Given the description of an element on the screen output the (x, y) to click on. 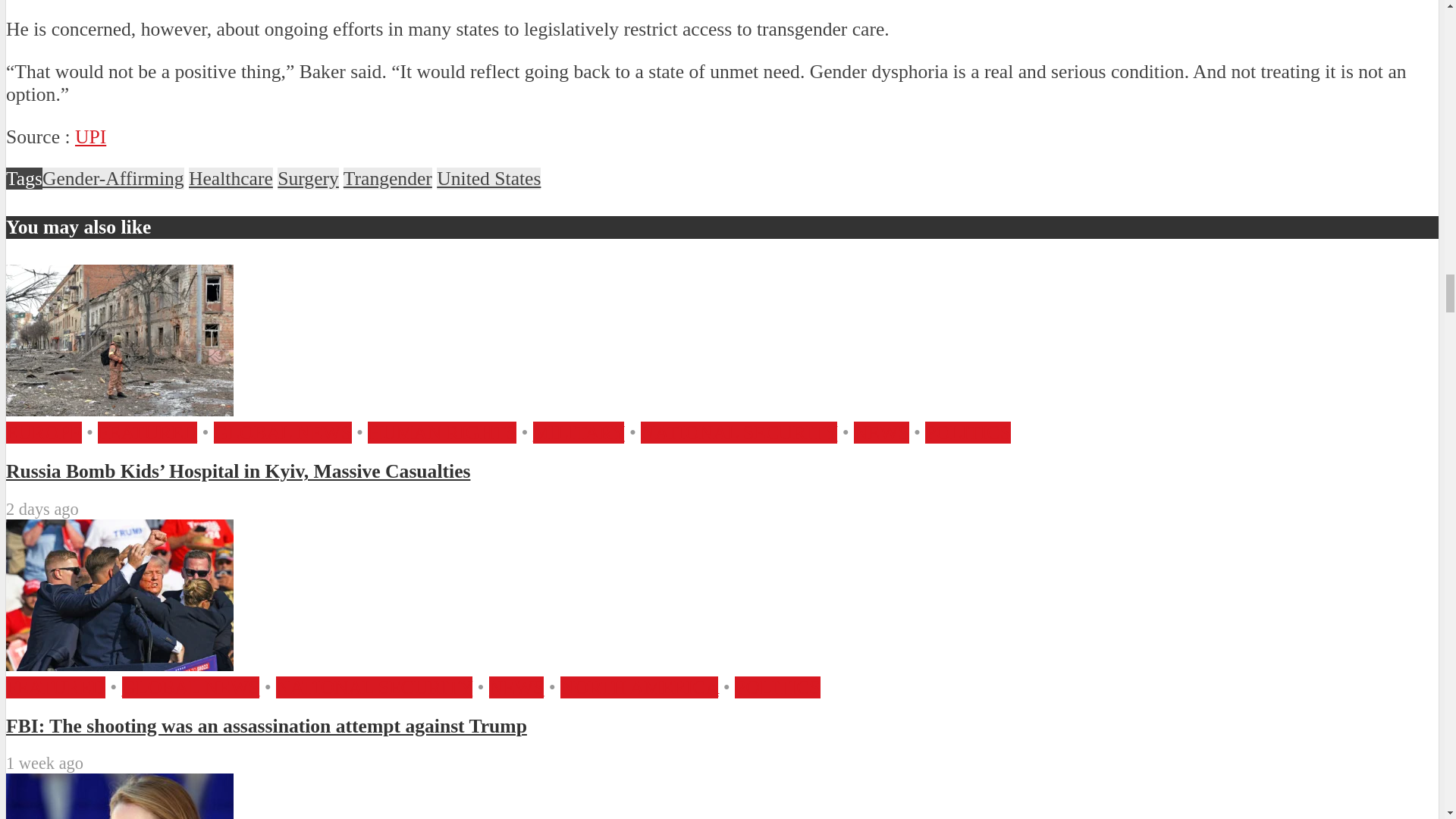
FBI: The shooting was an assassination attempt against Trump (118, 664)
